Given the description of an element on the screen output the (x, y) to click on. 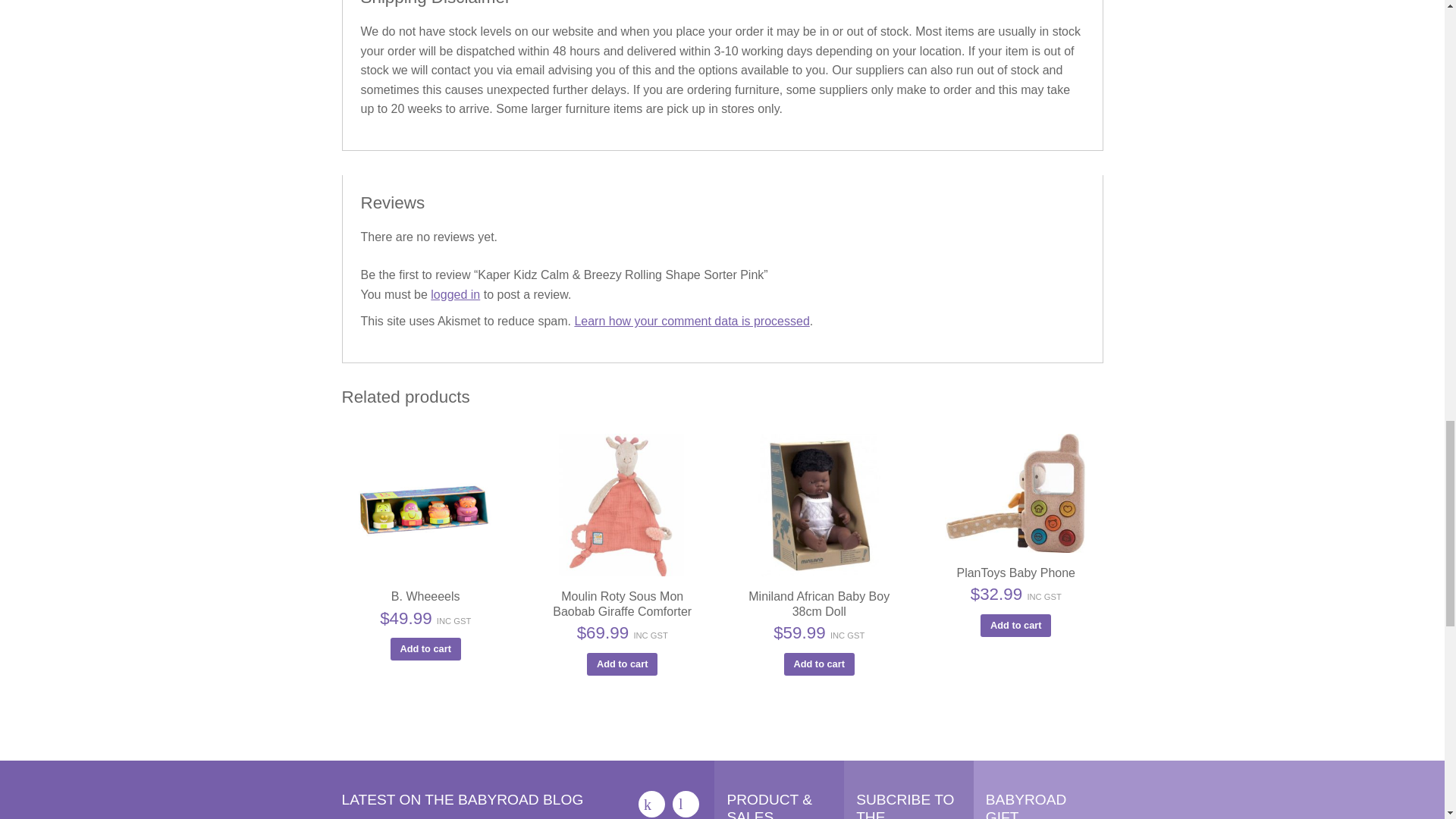
Miniland African Baby Boy 38cm Doll (818, 504)
Babyroad on Instagram (685, 804)
Moulin Roty Sous Mon Baobab Giraffe Comforter (622, 504)
B. Wheeeels2 (425, 504)
PlanToys Baby Phone (1015, 493)
Babyroad on Facebook (652, 804)
